Given the description of an element on the screen output the (x, y) to click on. 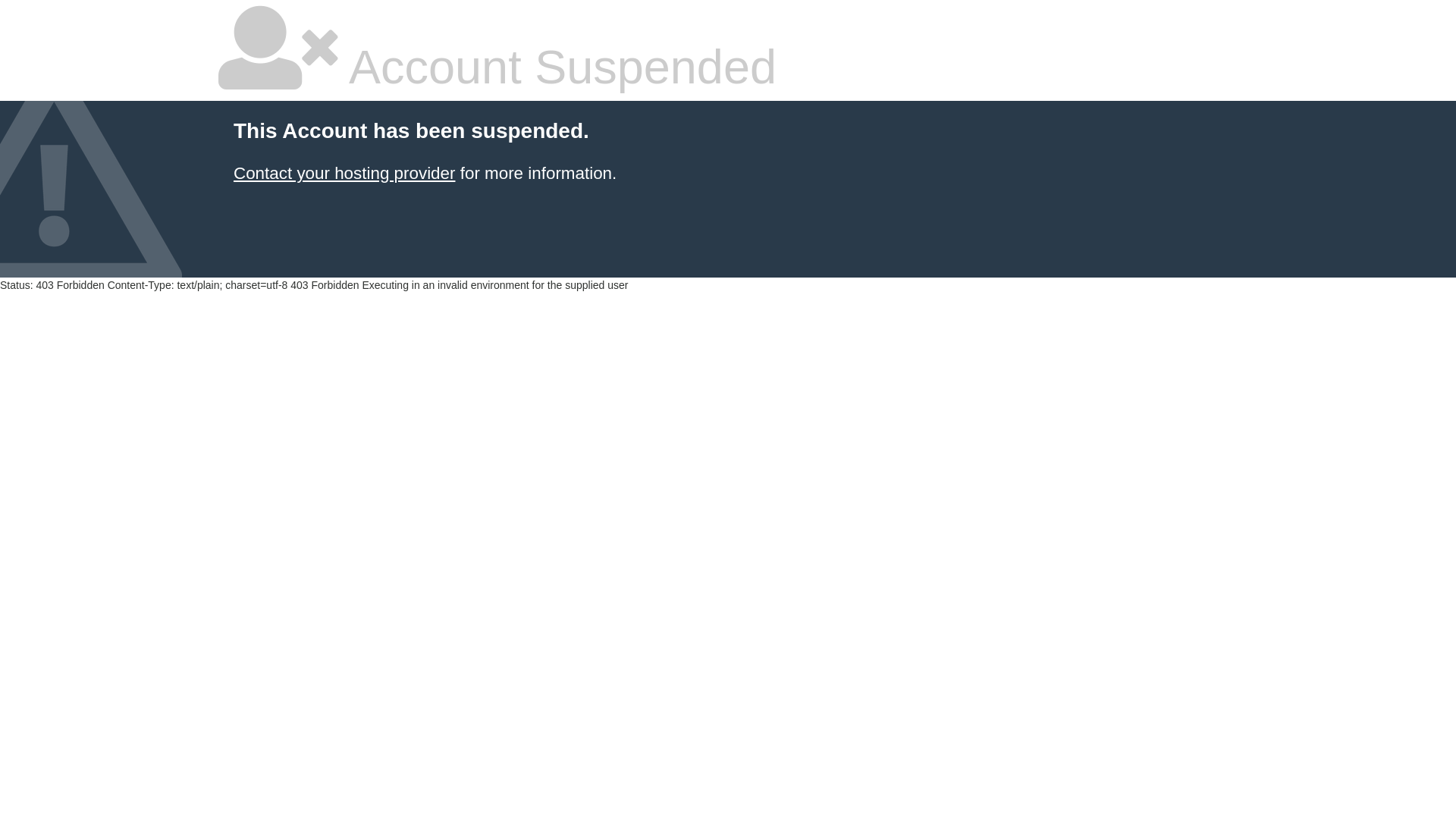
Contact your hosting provider Element type: text (344, 172)
